Given the description of an element on the screen output the (x, y) to click on. 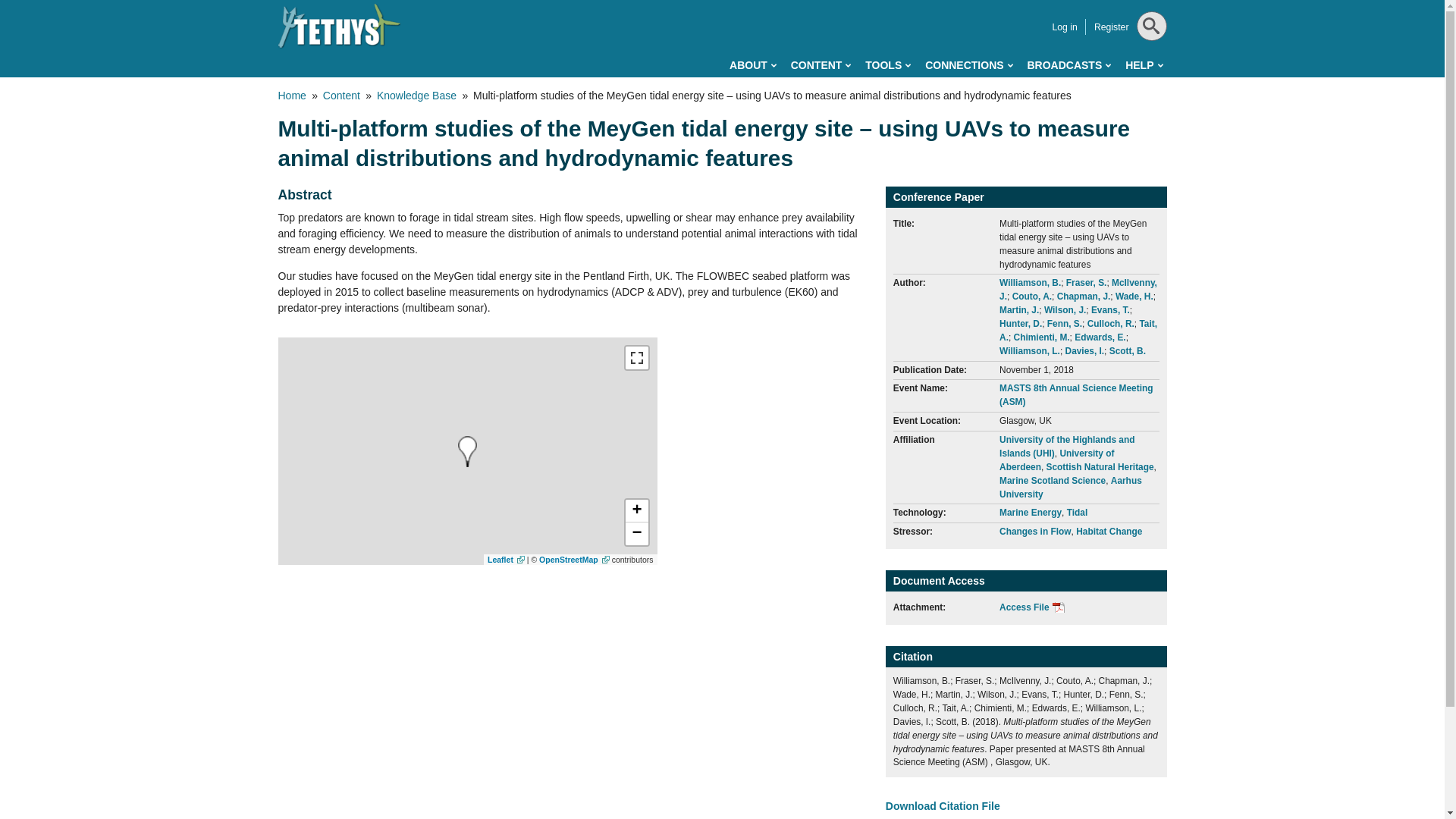
Zoom in (635, 510)
Zoom out (635, 533)
Skip to main content (654, 3)
View Fullscreen (635, 357)
Search (1148, 64)
Home (339, 26)
A JavaScript library for interactive maps (505, 559)
